Given the description of an element on the screen output the (x, y) to click on. 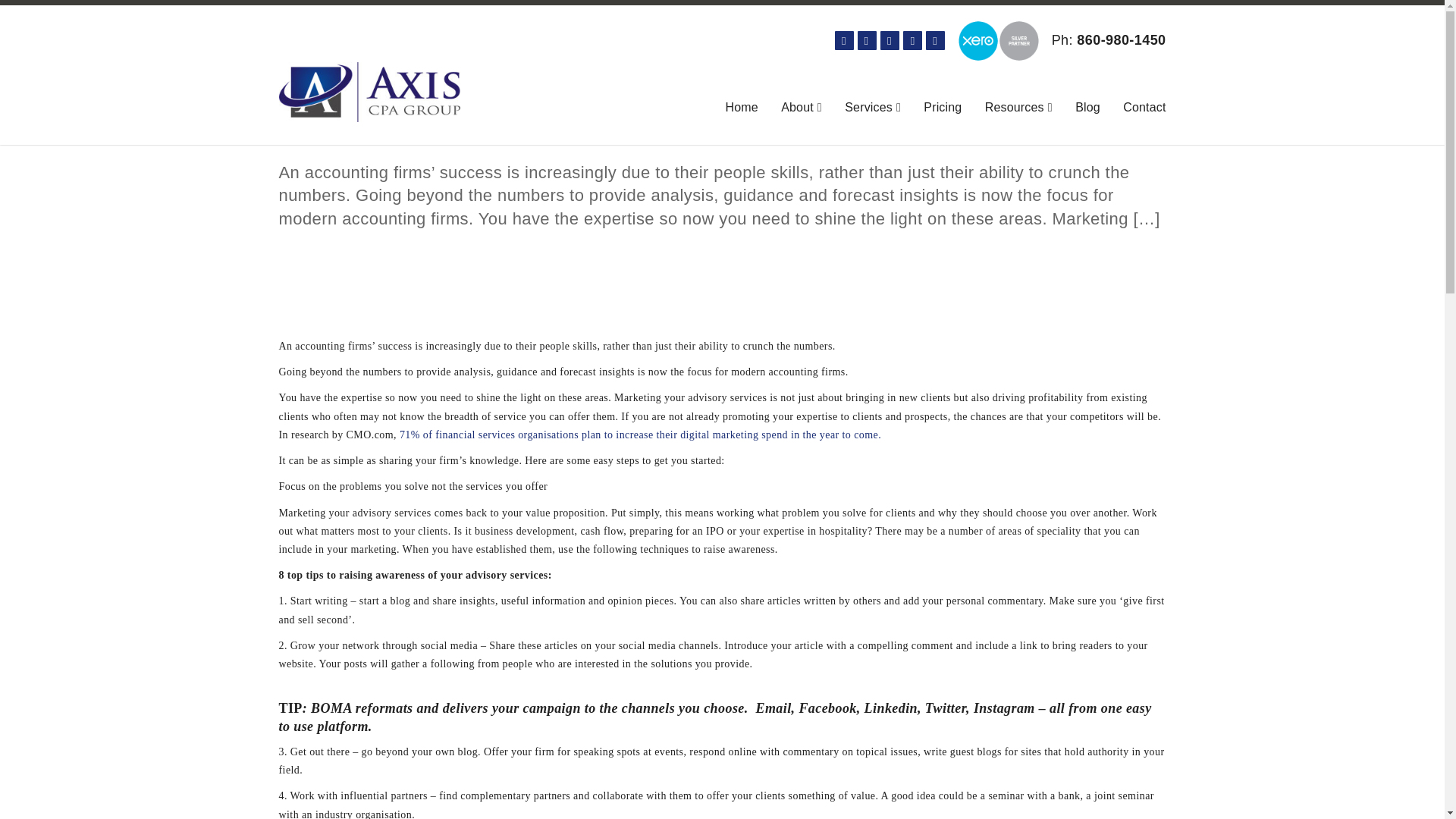
Marketing your Advisory Services (448, 134)
Pricing (941, 107)
BOMA (329, 708)
facebook (843, 40)
Linkedin (889, 40)
01-Aug-2018 (448, 134)
Home (741, 107)
Resources (1018, 107)
twitter (935, 40)
skype (911, 40)
